Given the description of an element on the screen output the (x, y) to click on. 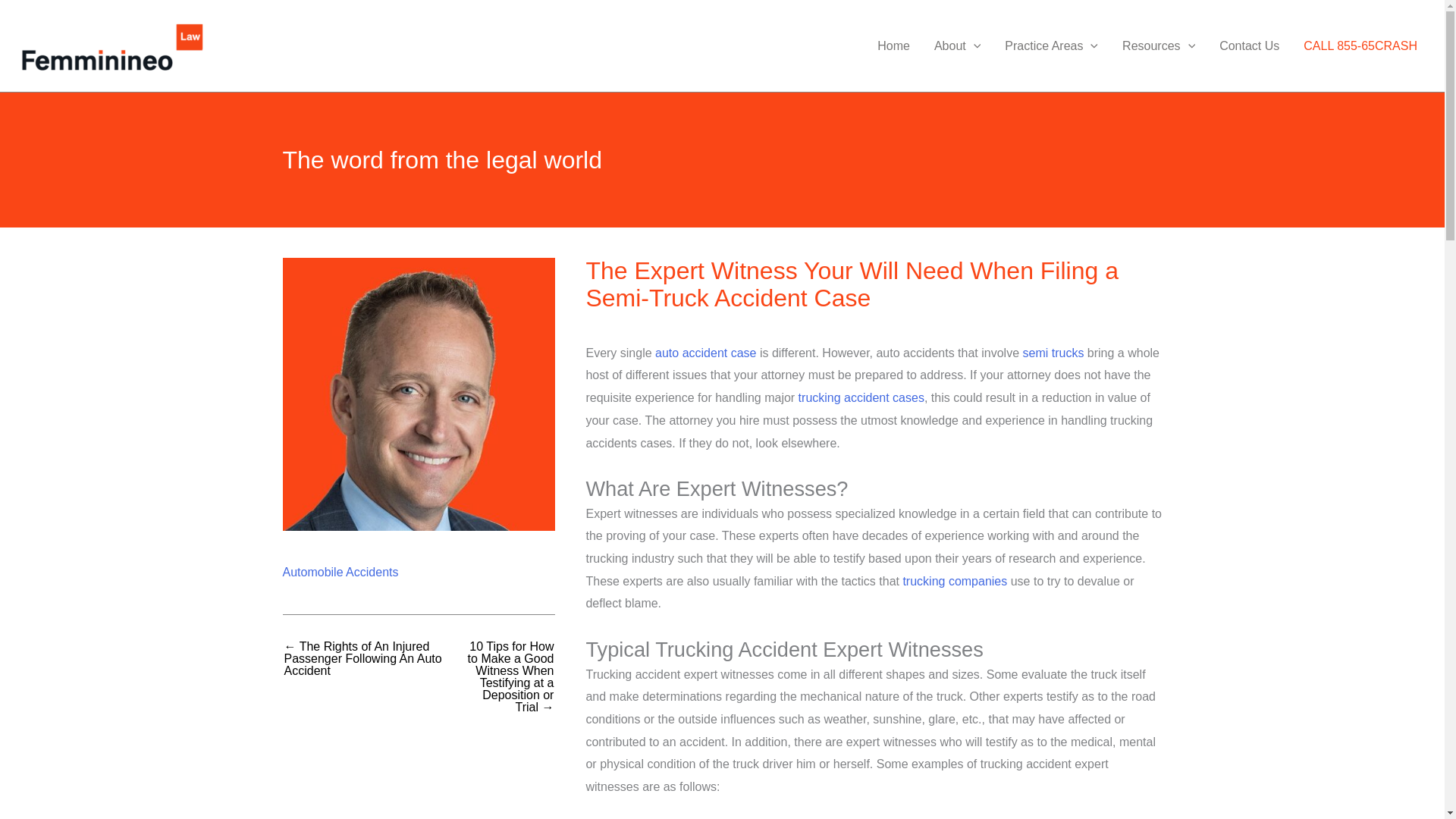
Resources (1158, 45)
Home (892, 45)
Practice Areas (1050, 45)
About (956, 45)
Contact Us (1249, 45)
David Femminineo (418, 393)
CALL 855-65CRASH (1360, 45)
